Given the description of an element on the screen output the (x, y) to click on. 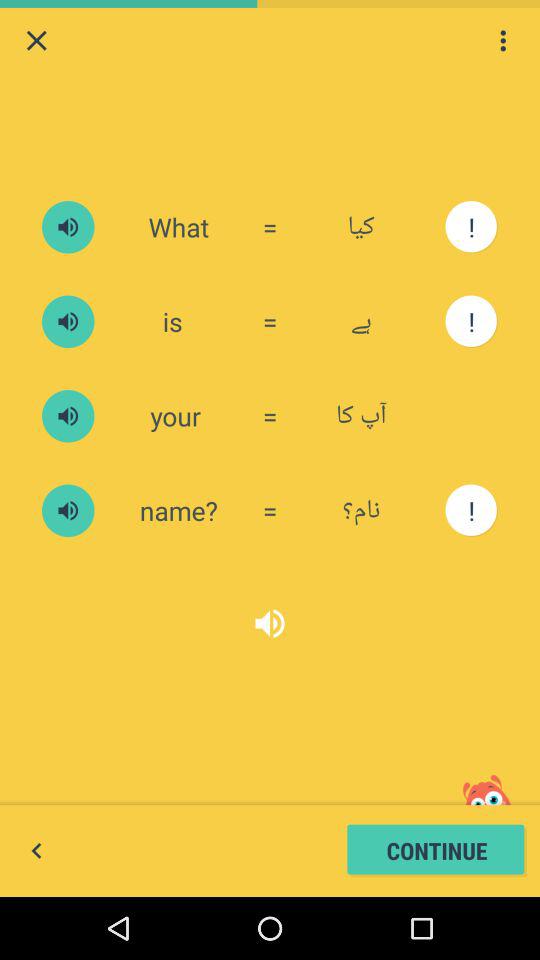
a free english learning course used by over 50 million learners for spoken english (68, 510)
